Given the description of an element on the screen output the (x, y) to click on. 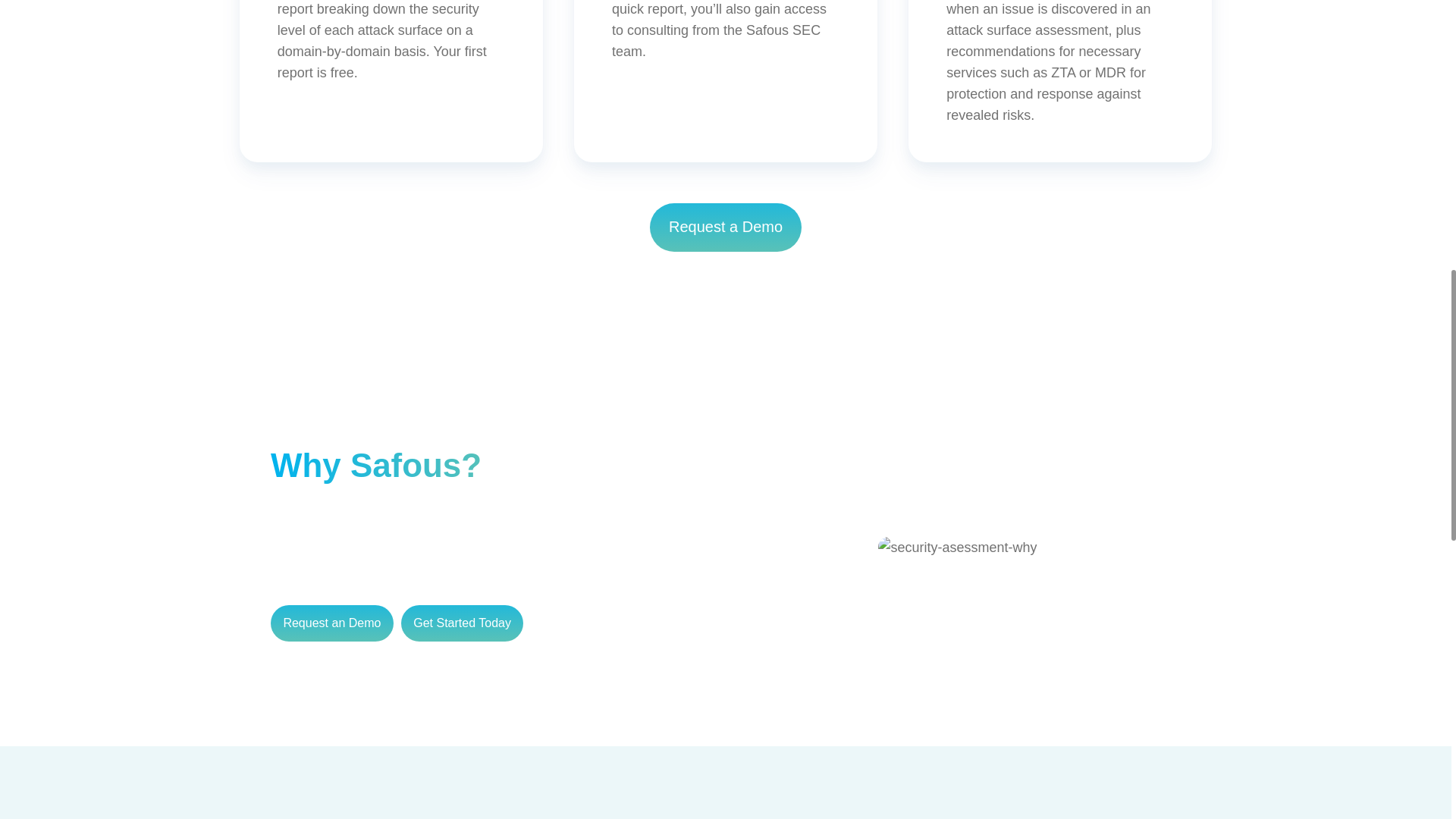
Request an Demo (331, 623)
Get Started Today (462, 623)
Request a Demo (724, 227)
